Given the description of an element on the screen output the (x, y) to click on. 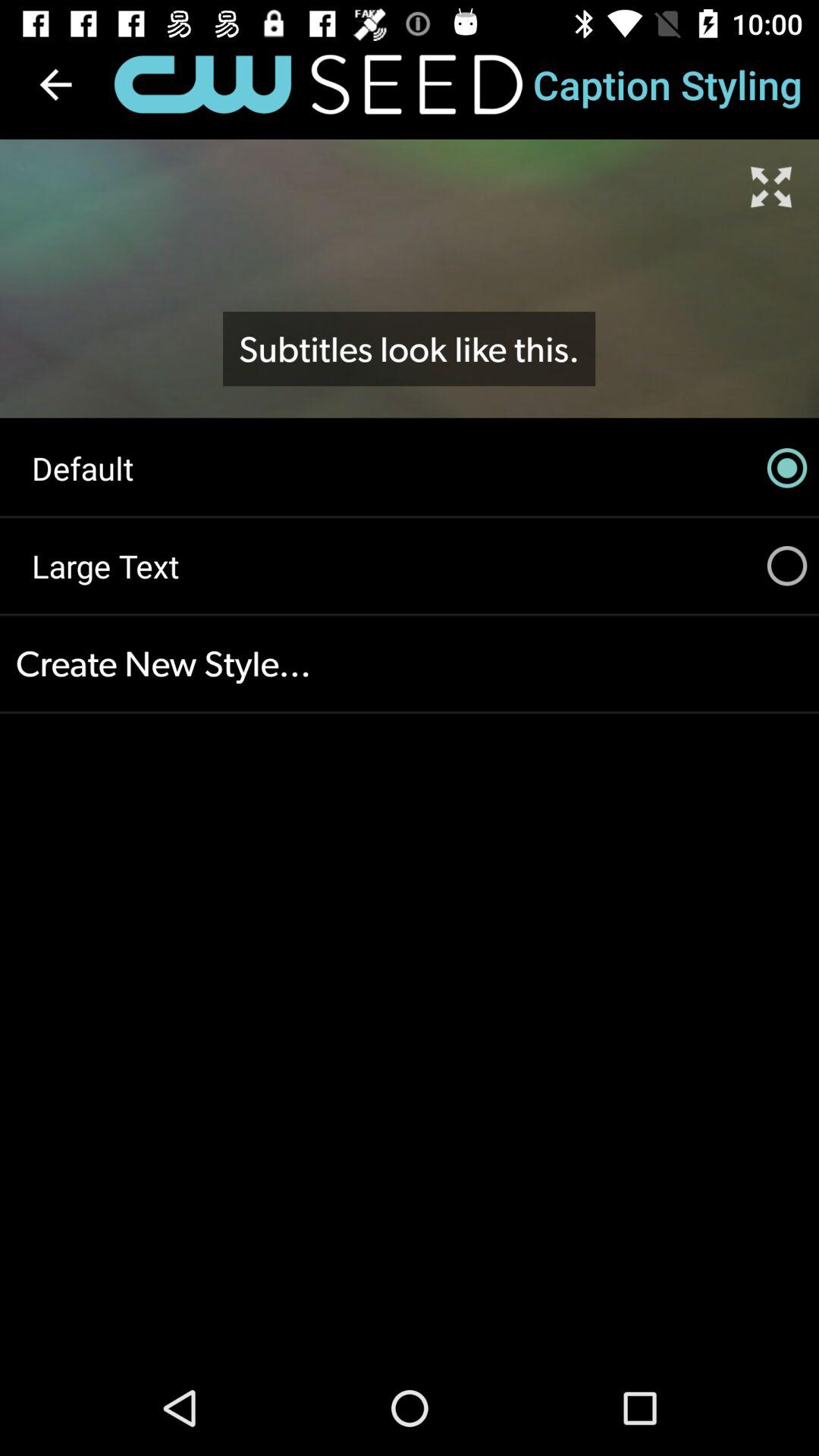
press the app below the caption styling icon (771, 186)
